Given the description of an element on the screen output the (x, y) to click on. 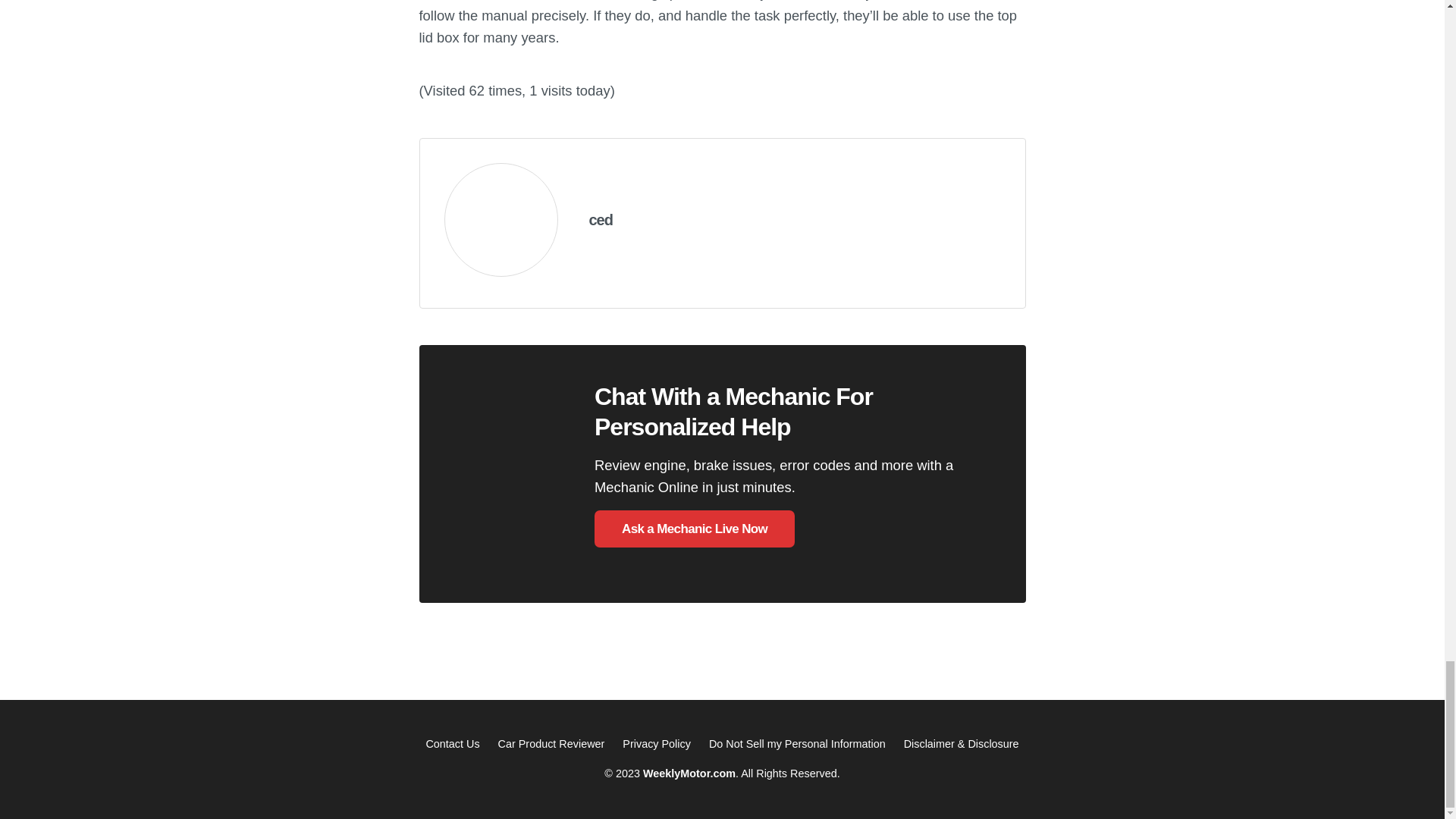
Ask a Mechanic Live Now (694, 528)
Car Product Reviewer (551, 743)
WeeklyMotor.com (689, 773)
Do Not Sell my Personal Information (797, 743)
Contact Us (452, 743)
Privacy Policy (656, 743)
